Given the description of an element on the screen output the (x, y) to click on. 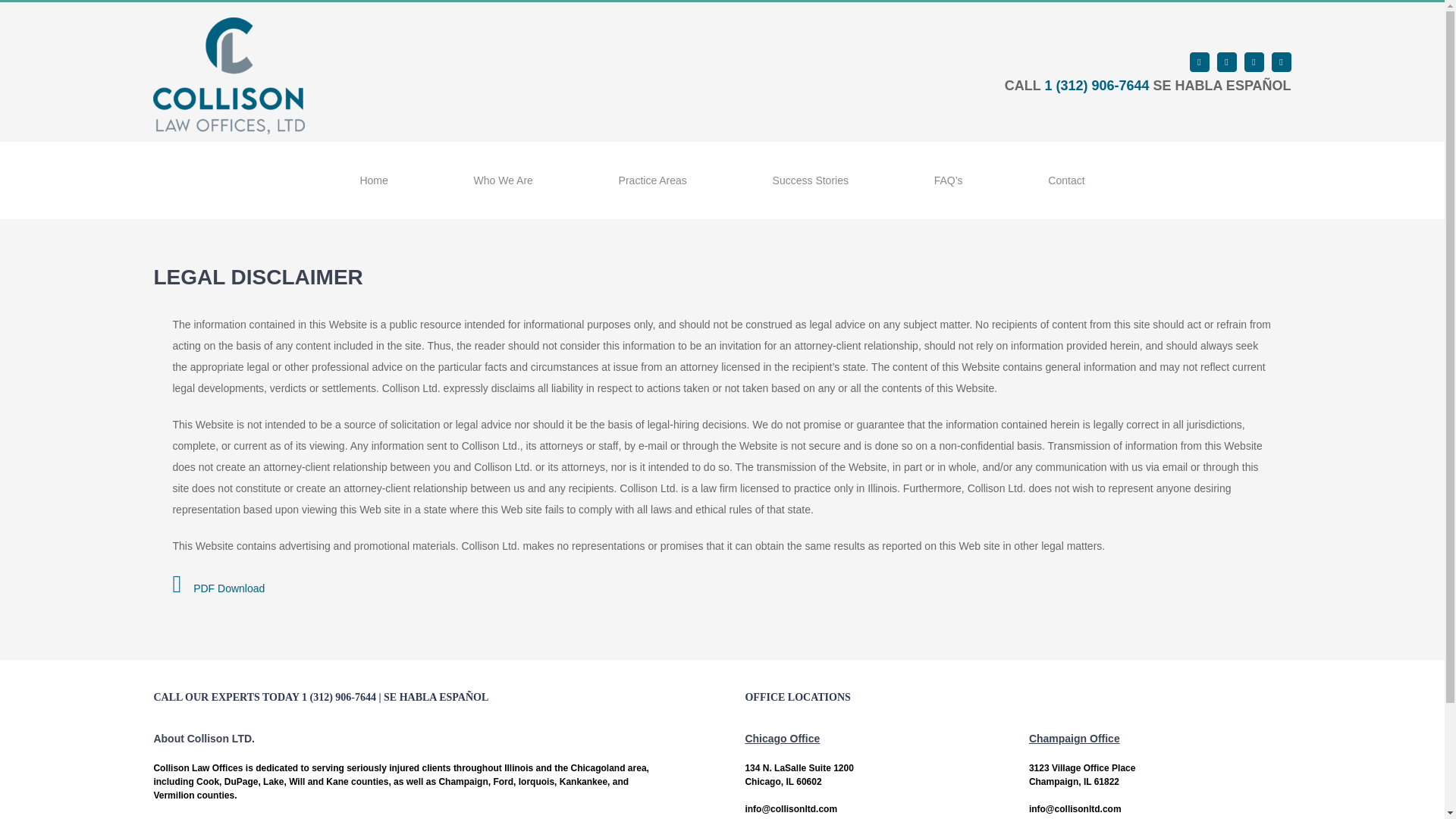
Success Stories (809, 180)
Home (373, 180)
Contact (1066, 180)
Practice Areas (652, 180)
Who We Are (502, 180)
PDF Download (217, 588)
